Given the description of an element on the screen output the (x, y) to click on. 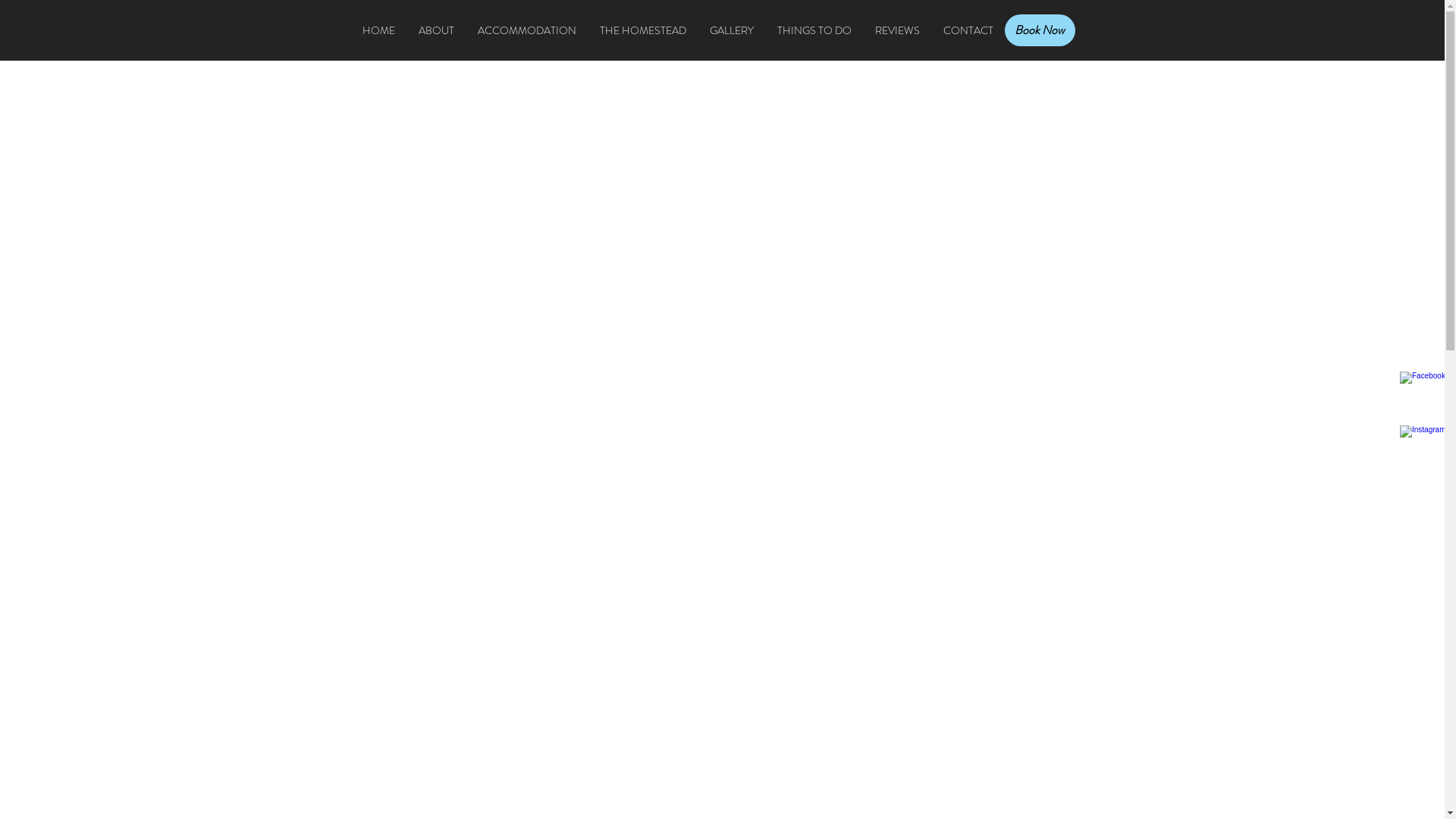
Book Now Element type: text (1039, 30)
THINGS TO DO Element type: text (814, 30)
CONTACT Element type: text (967, 30)
ABOUT Element type: text (435, 30)
ACCOMMODATION Element type: text (526, 30)
THE HOMESTEAD Element type: text (643, 30)
HOME Element type: text (378, 30)
GALLERY Element type: text (731, 30)
REVIEWS Element type: text (896, 30)
